Given the description of an element on the screen output the (x, y) to click on. 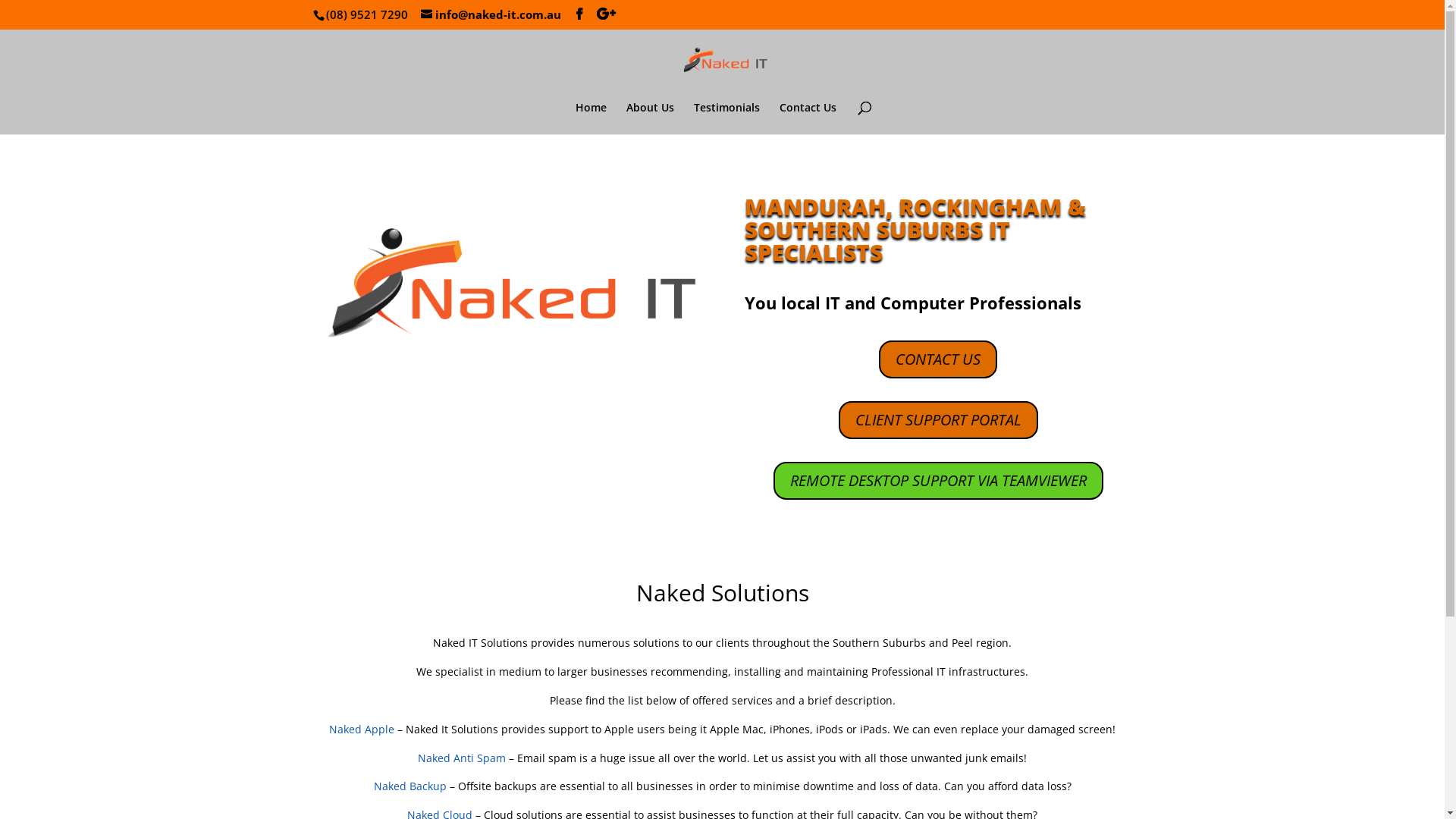
info@naked-it.com.au Element type: text (490, 13)
Testimonials Element type: text (726, 118)
Naked Anti Spam Element type: text (461, 757)
About Us Element type: text (650, 118)
Naked Backup Element type: text (409, 785)
CLIENT SUPPORT PORTAL Element type: text (938, 420)
Home Element type: text (589, 118)
Contact Us Element type: text (807, 118)
CONTACT US Element type: text (937, 359)
REMOTE DESKTOP SUPPORT VIA TEAMVIEWER Element type: text (938, 480)
Naked Apple Element type: text (361, 728)
